Given the description of an element on the screen output the (x, y) to click on. 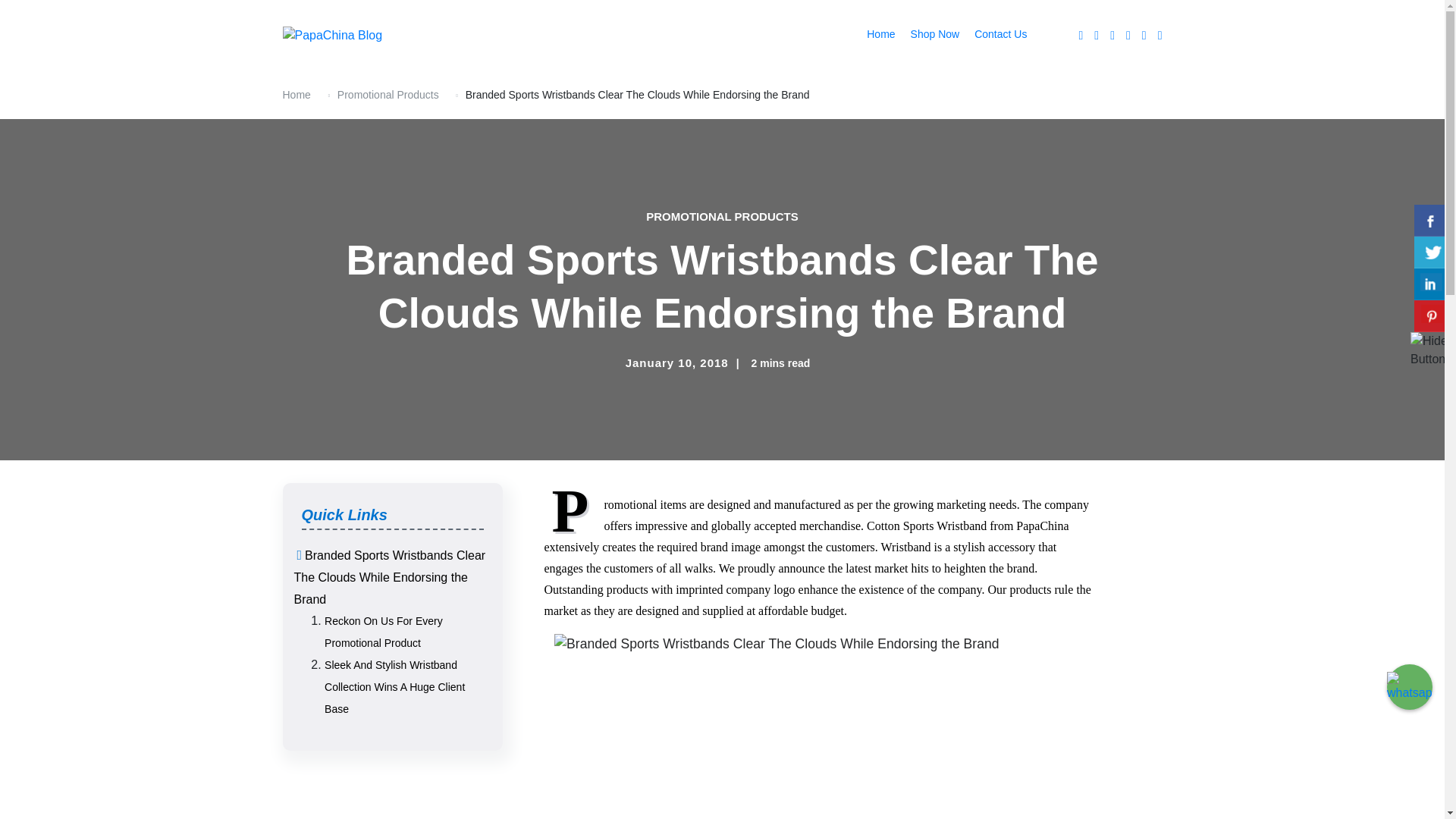
PapaChina (323, 92)
P (574, 534)
Hide Buttons (1422, 340)
Promotional Products (388, 118)
Contact Us (1000, 47)
Home (296, 118)
Shop Now (935, 47)
Reckon On Us For Every Promotional Product (383, 655)
January 10, 2018 (677, 386)
PROMOTIONAL PRODUCTS (721, 240)
